Given the description of an element on the screen output the (x, y) to click on. 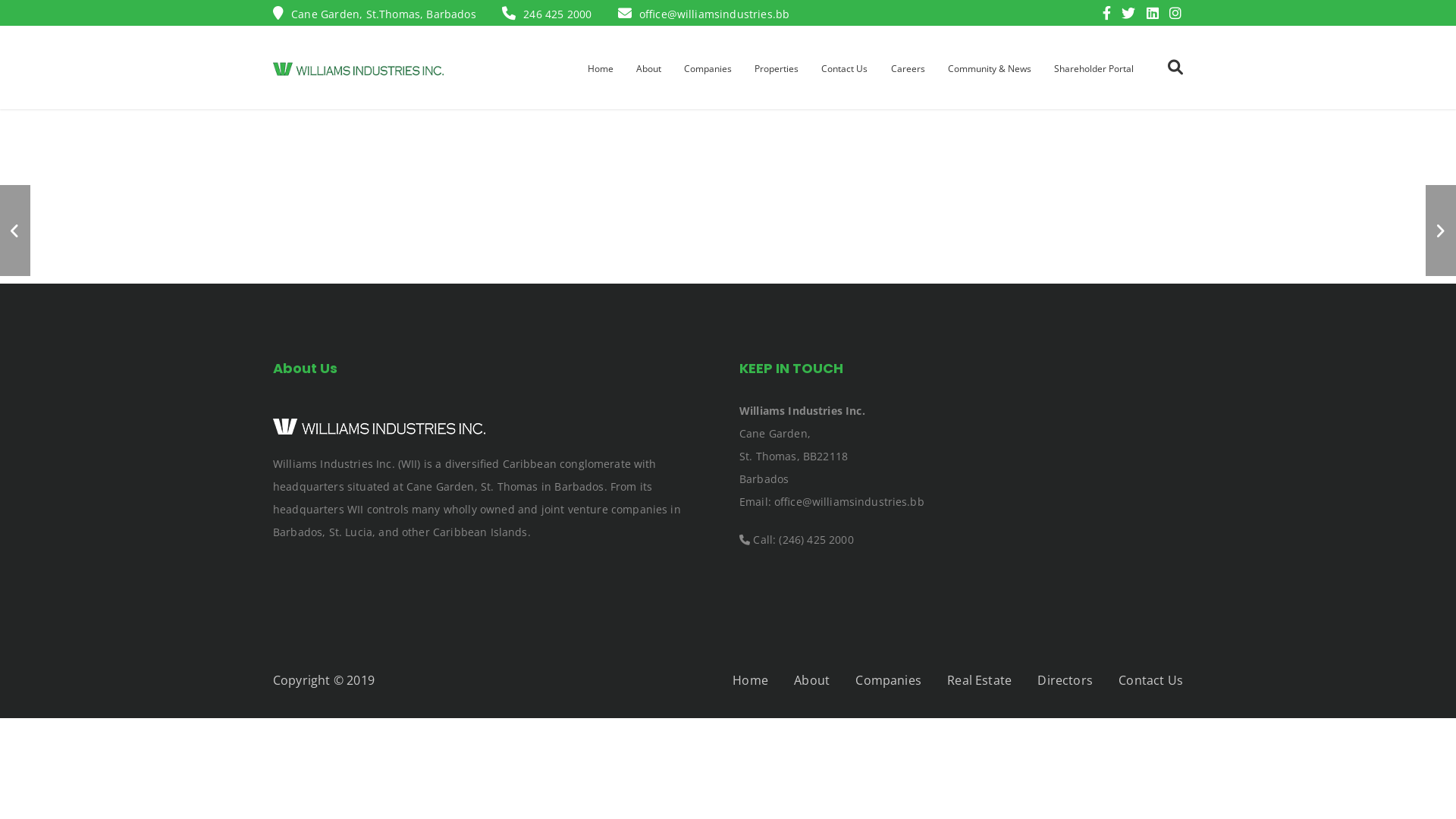
Shareholder Portal Element type: text (1093, 68)
Real Estate Element type: text (979, 679)
About Element type: text (648, 68)
Home Element type: text (600, 68)
Careers Element type: text (907, 68)
Directors Element type: text (1064, 679)
Twitter Element type: hover (1131, 13)
Contact Us Element type: text (843, 68)
LinkedIn Element type: hover (1156, 13)
Facebook Element type: hover (1110, 13)
About Element type: text (811, 679)
Companies Element type: text (707, 68)
Properties Element type: text (776, 68)
Companies Element type: text (887, 679)
Home Element type: text (750, 679)
Community & News Element type: text (988, 68)
Instagram Element type: hover (1175, 13)
Contact Us Element type: text (1150, 679)
